Given the description of an element on the screen output the (x, y) to click on. 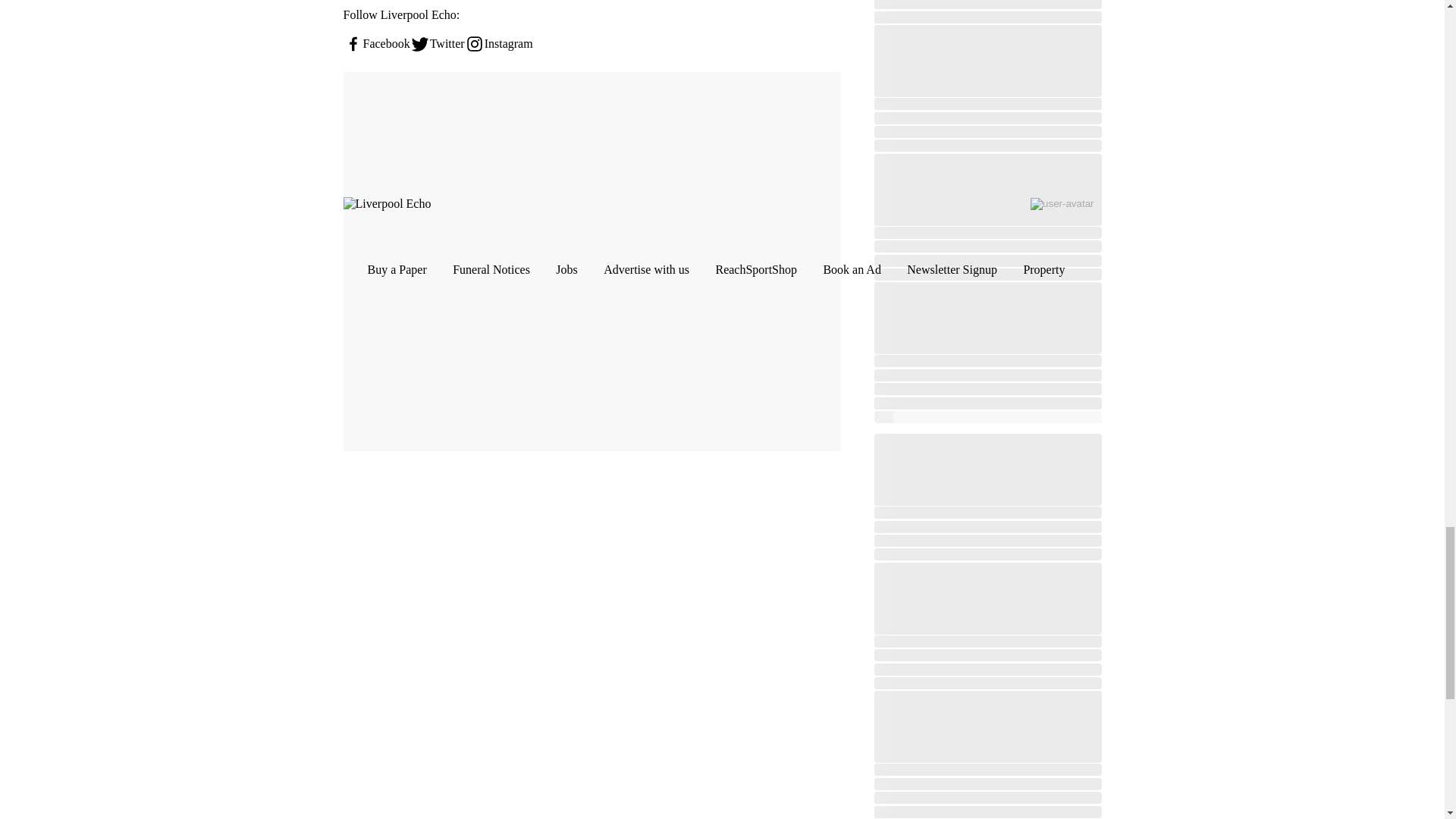
Twitter (437, 44)
Instagram (498, 44)
Facebook (375, 44)
